Given the description of an element on the screen output the (x, y) to click on. 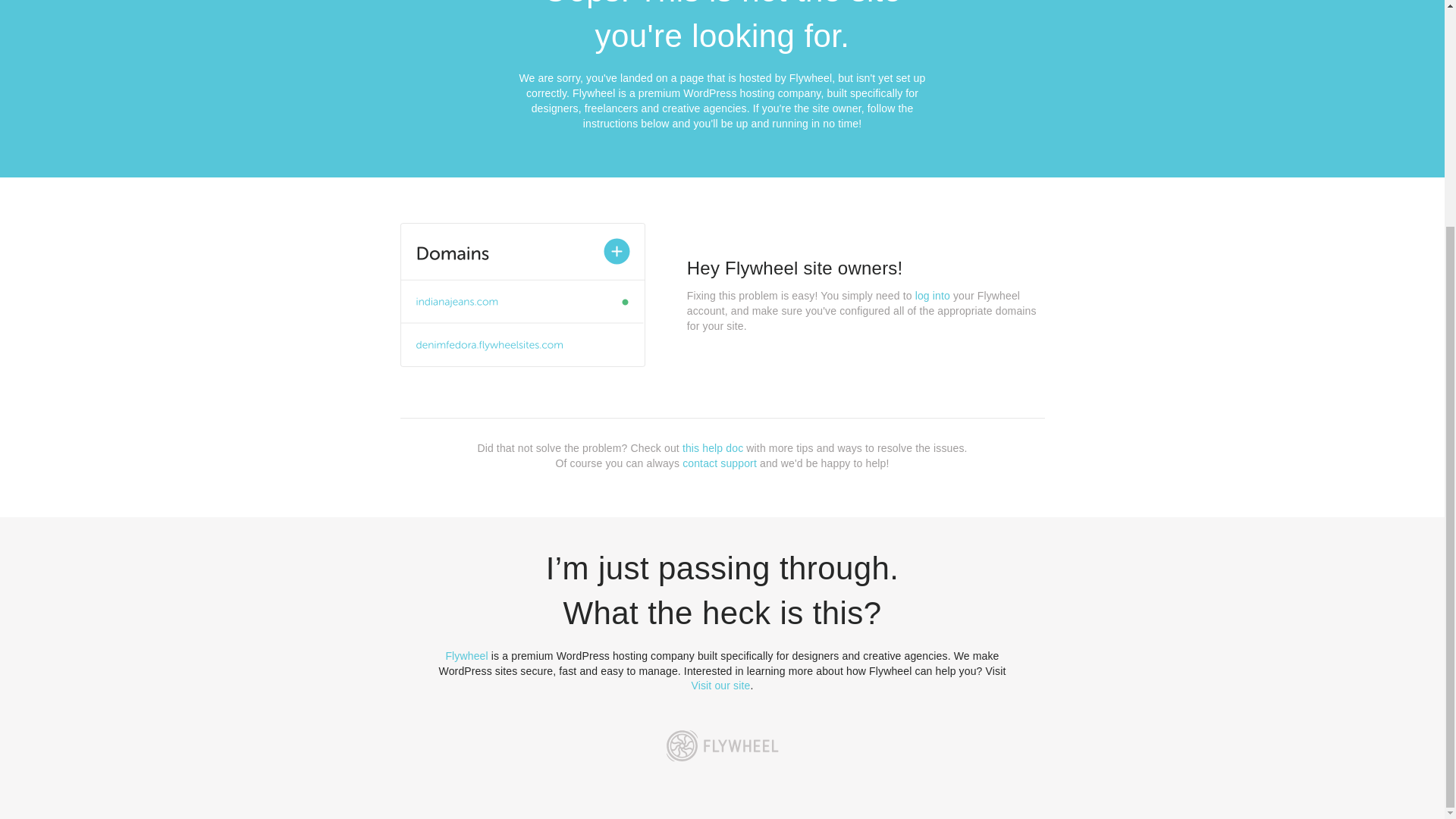
Visit our site (721, 685)
contact support (719, 463)
log into (932, 295)
this help doc (712, 448)
Flywheel (466, 655)
